Given the description of an element on the screen output the (x, y) to click on. 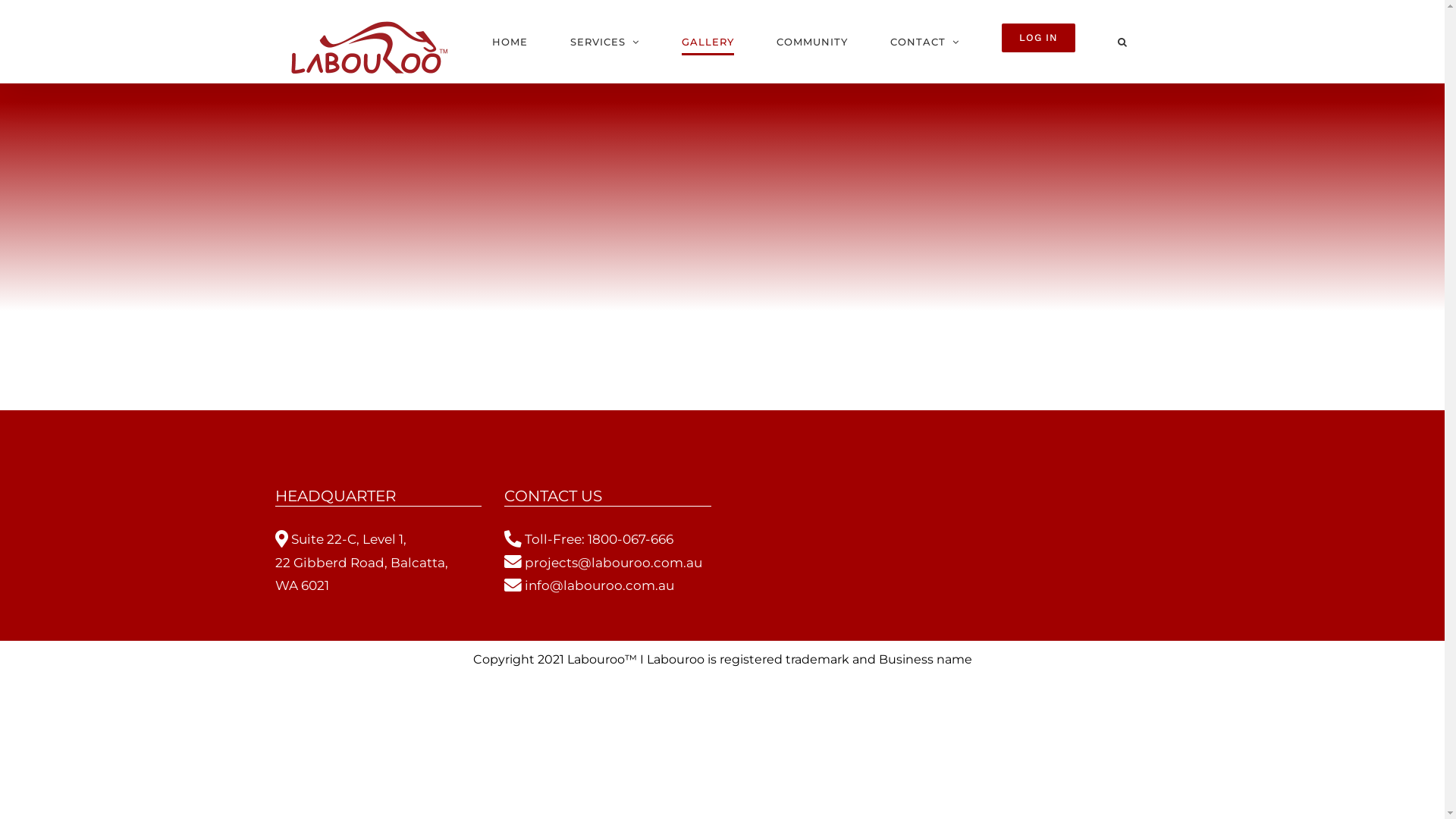
projects@labouroo.com.au Element type: text (603, 562)
LOG IN Element type: text (1037, 41)
COMMUNITY Element type: text (811, 41)
Toll-Free: 1800-067-666 Element type: text (588, 538)
Search Element type: hover (1122, 41)
CONTACT Element type: text (924, 41)
Suite 22-C, Level 1,
22 Gibberd Road, Balcatta,
WA 6021 Element type: text (360, 562)
GALLERY Element type: text (706, 41)
SERVICES Element type: text (604, 41)
info@labouroo.com.au Element type: text (589, 585)
HOME Element type: text (509, 41)
